Given the description of an element on the screen output the (x, y) to click on. 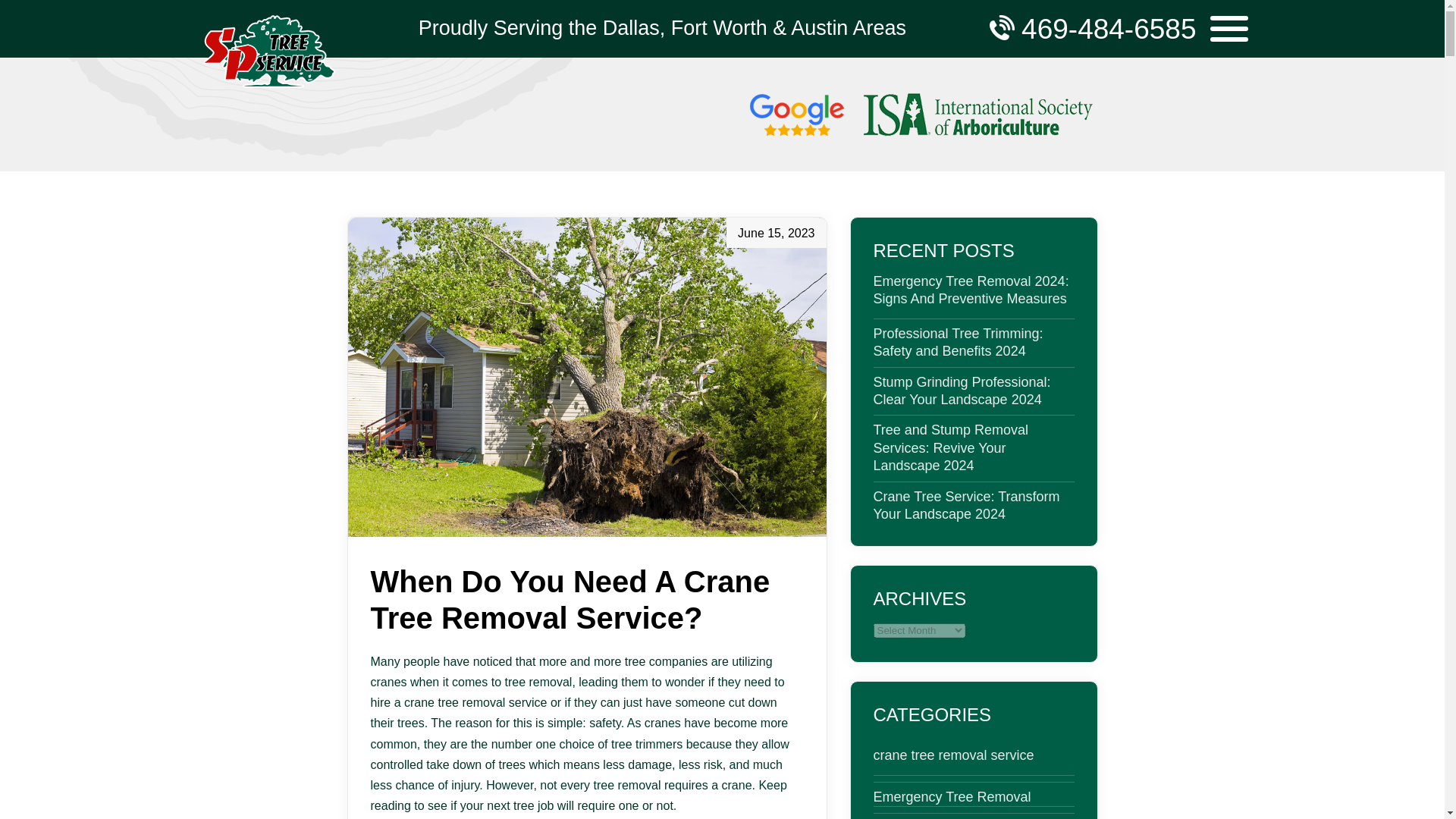
469-484-6585 (1115, 36)
